Given the description of an element on the screen output the (x, y) to click on. 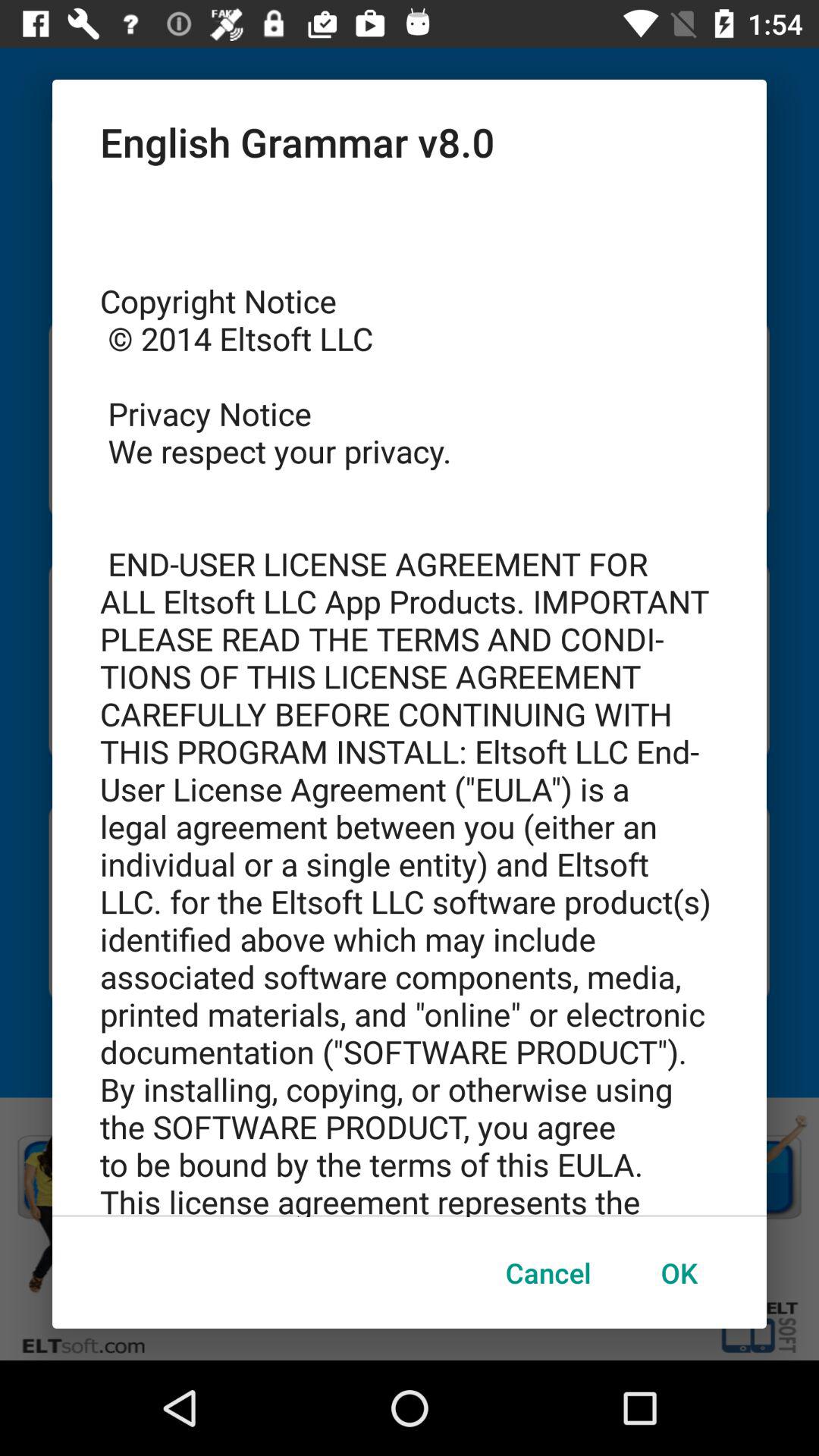
scroll until cancel button (548, 1272)
